Given the description of an element on the screen output the (x, y) to click on. 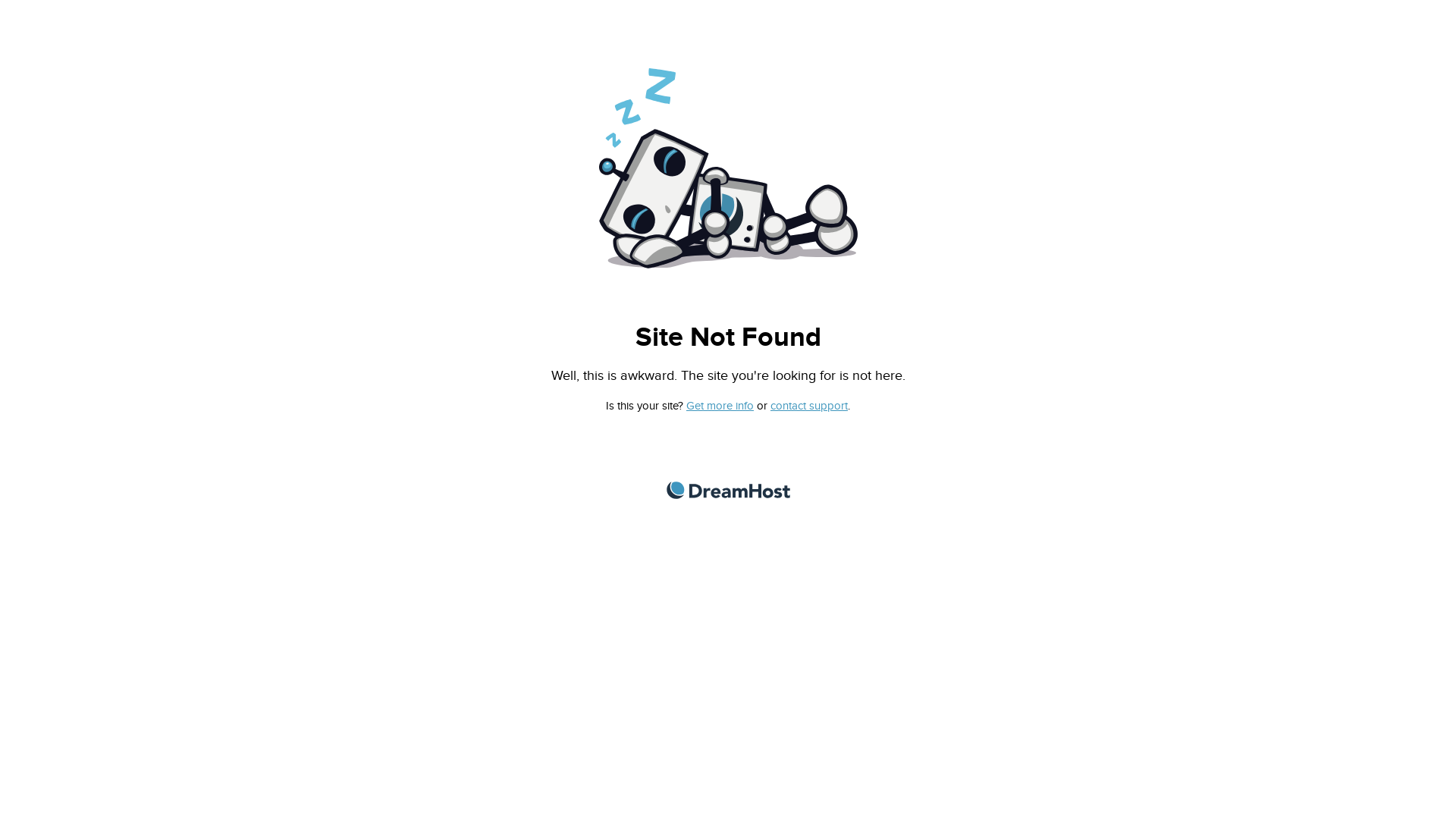
Get more info Element type: text (719, 405)
DreamHost Element type: text (727, 489)
contact support Element type: text (808, 405)
